Given the description of an element on the screen output the (x, y) to click on. 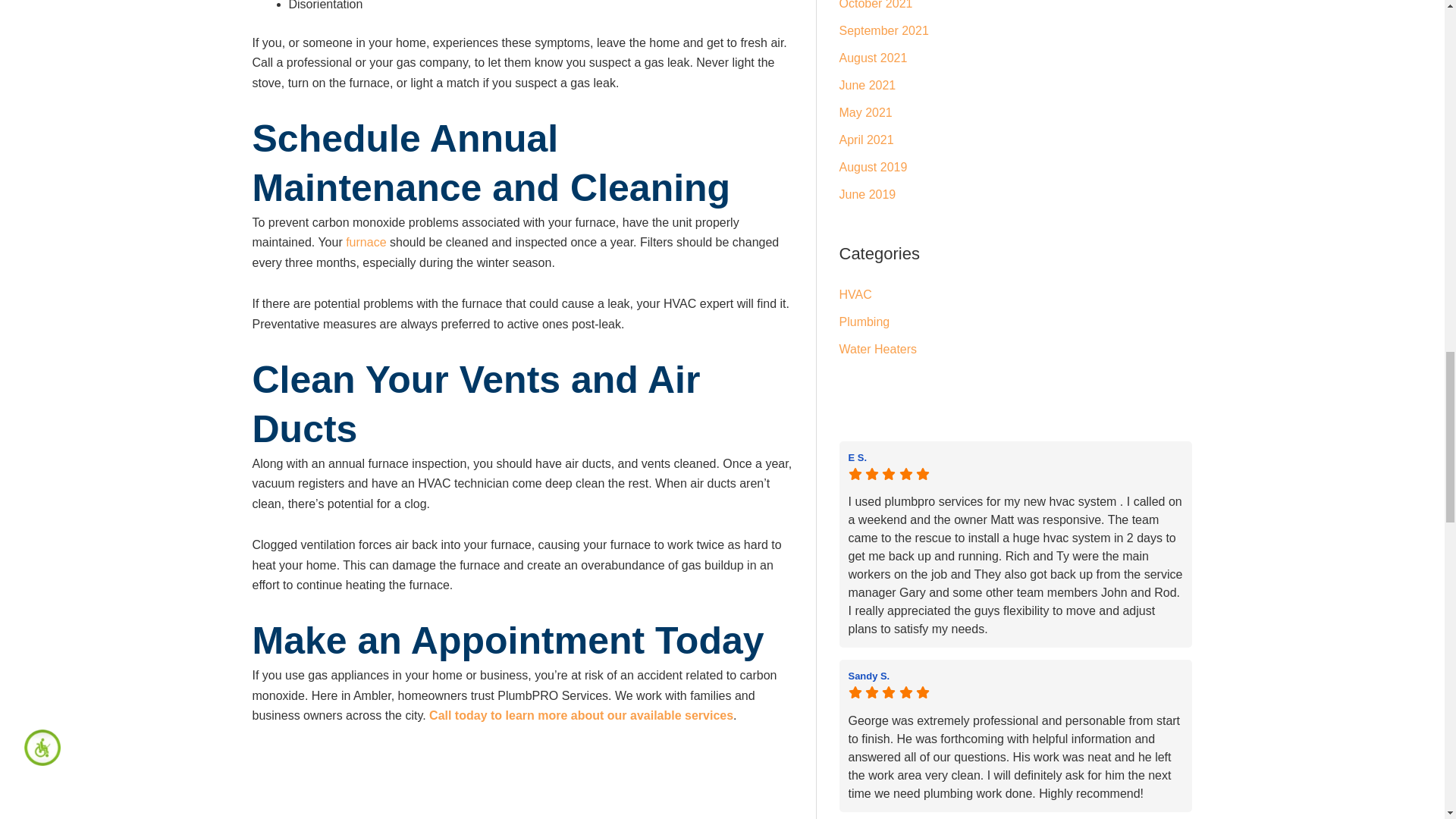
E S. (1014, 457)
Sandy S. (1014, 675)
